Given the description of an element on the screen output the (x, y) to click on. 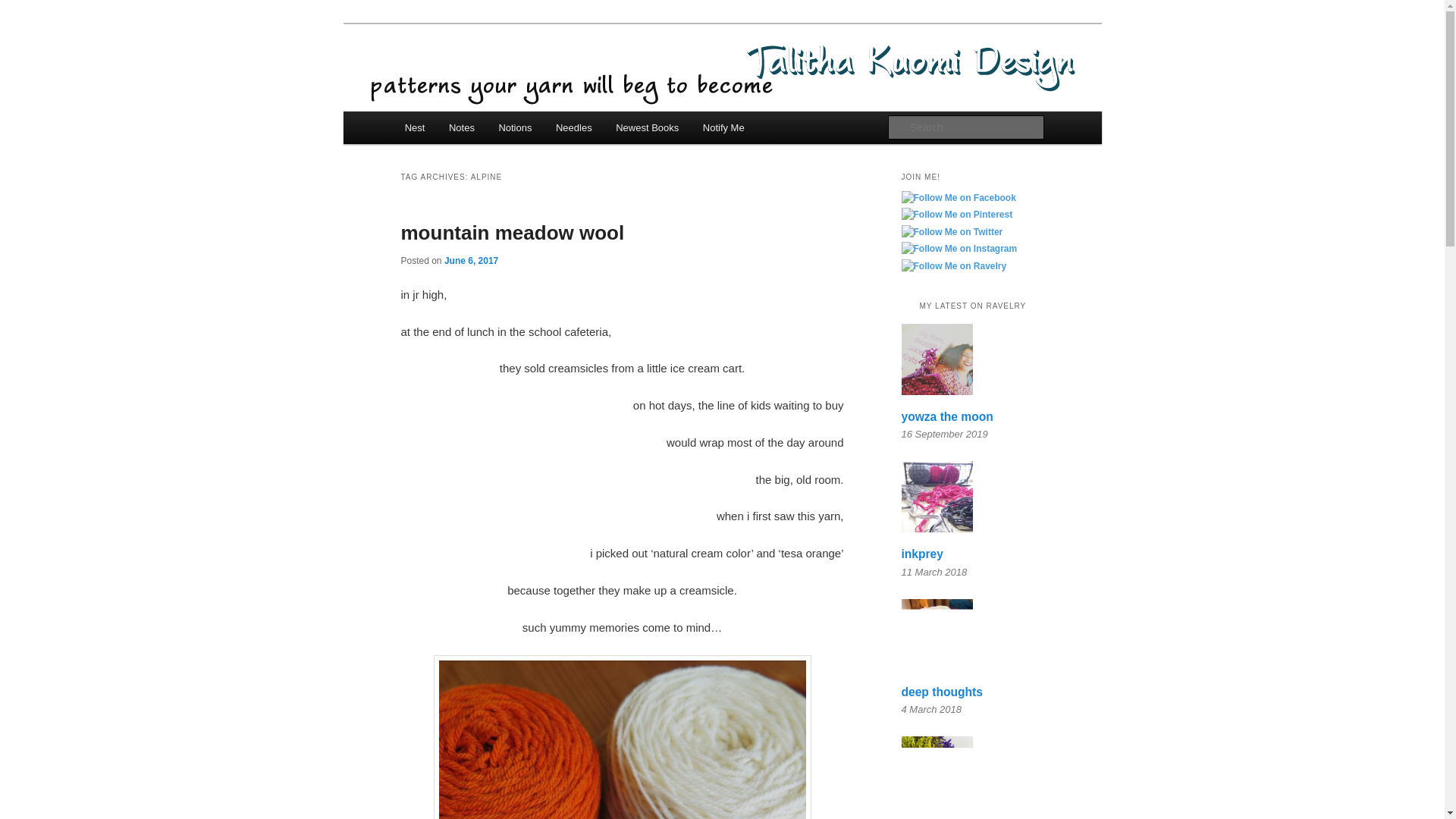
Search (24, 8)
Newest Books (647, 127)
Notify Me (722, 127)
Follow Me on Instagram (958, 249)
Follow Me on Pinterest (956, 215)
Follow Me on Ravelry (953, 266)
deep thoughts (941, 691)
Follow Me on Twitter (952, 232)
June 6, 2017 (470, 259)
Needles (573, 127)
